Given the description of an element on the screen output the (x, y) to click on. 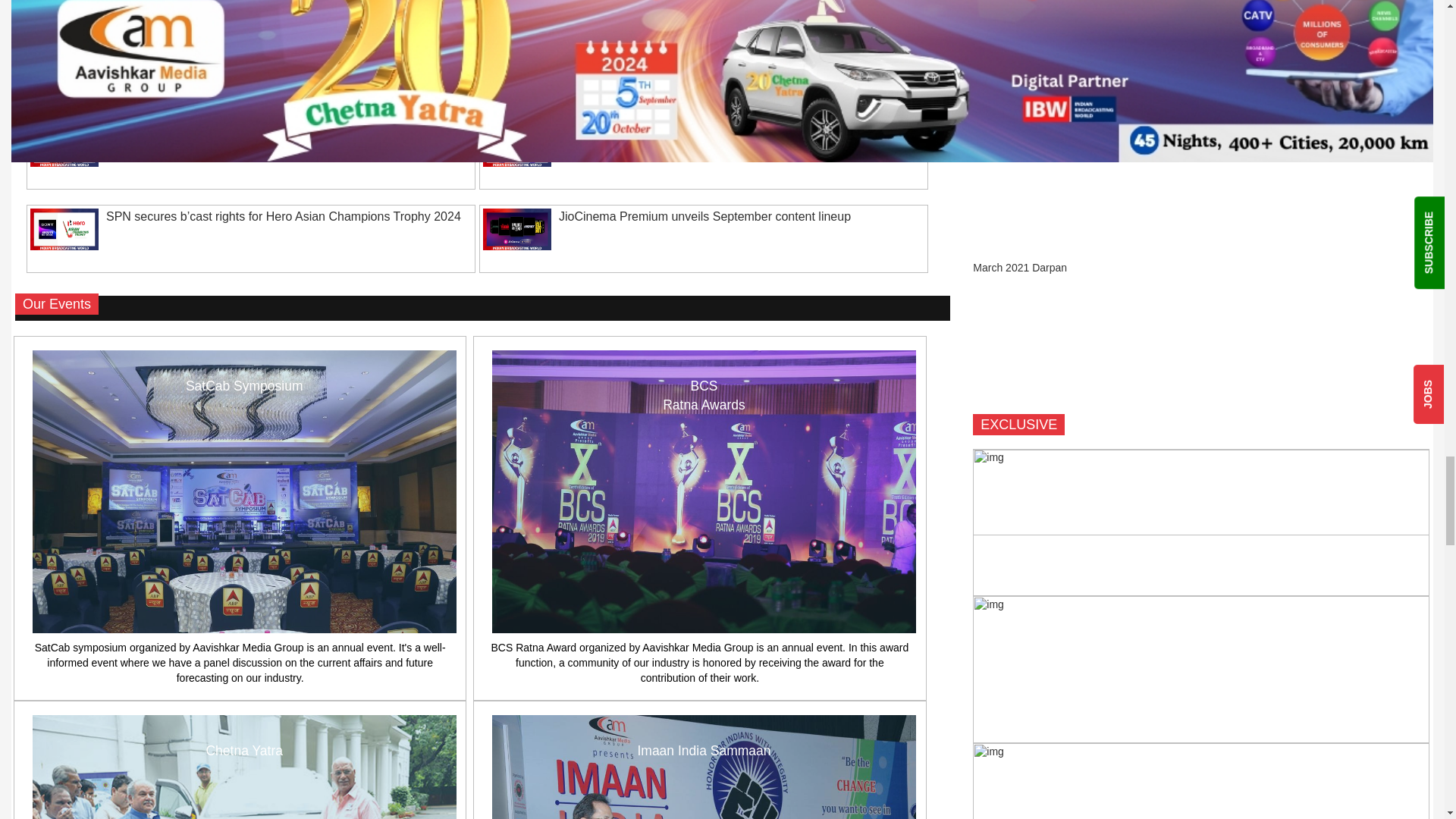
BCS Ratna Awards (703, 491)
Chetna Yatra (244, 766)
SatCab Symposium (244, 491)
Imaan India Sammaan (703, 766)
